Given the description of an element on the screen output the (x, y) to click on. 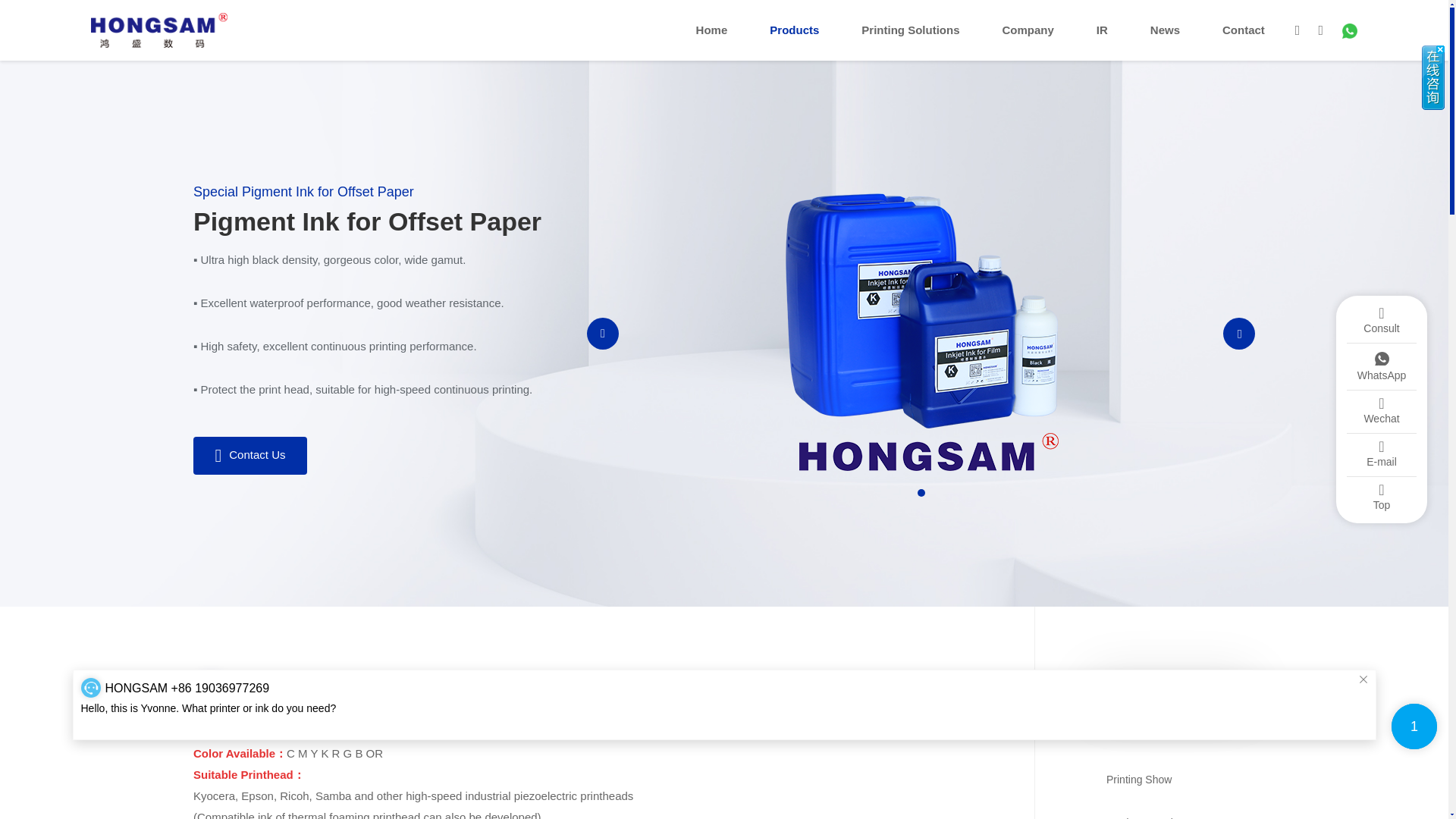
Home (711, 30)
Products (794, 30)
